Given the description of an element on the screen output the (x, y) to click on. 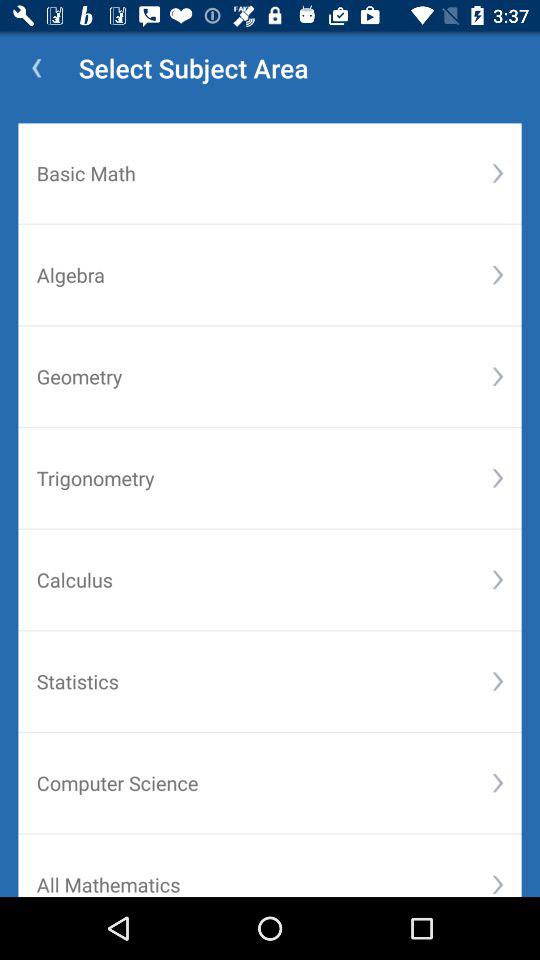
select the icon at the top left corner (36, 68)
